Given the description of an element on the screen output the (x, y) to click on. 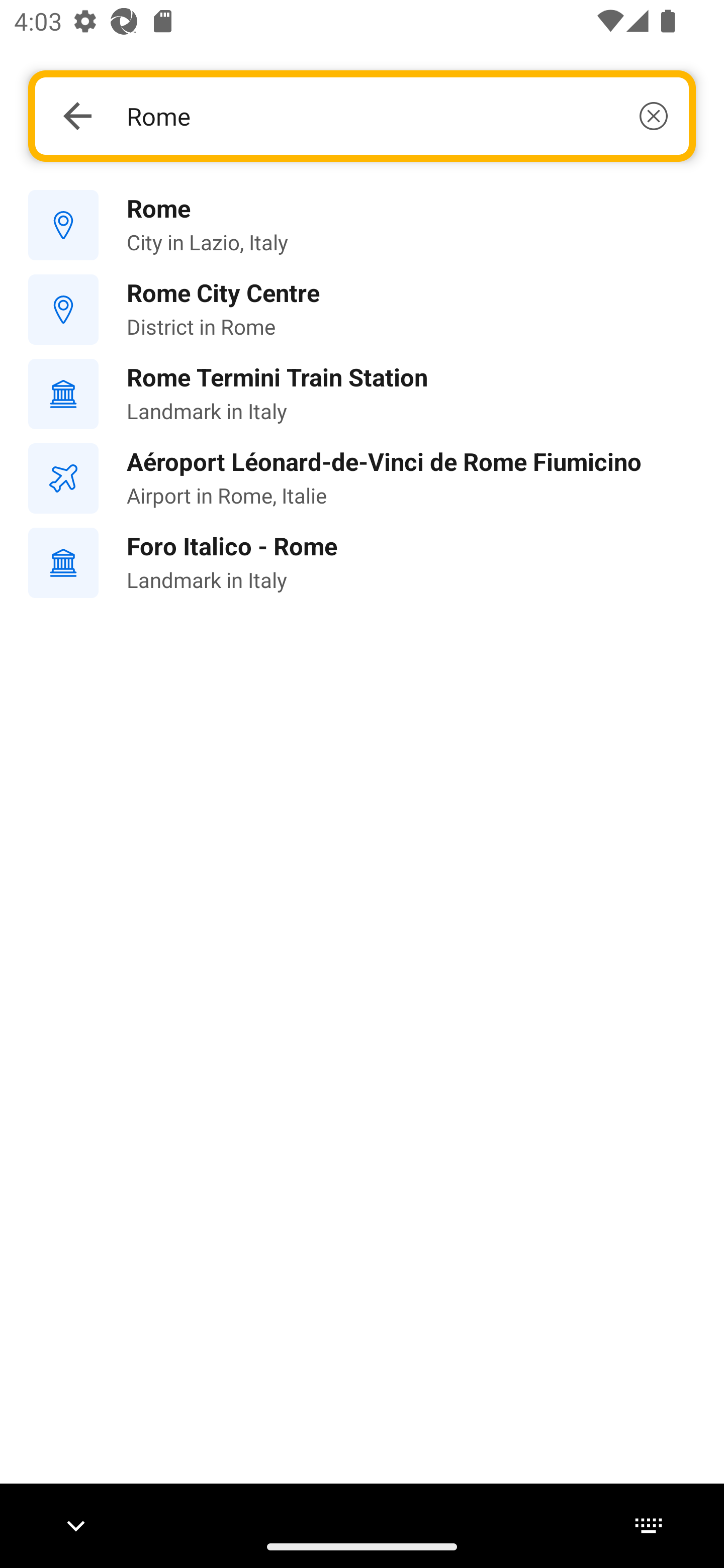
Rome (396, 115)
Rome City in Lazio, Italy (362, 225)
Rome City Centre District in Rome (362, 309)
Rome Termini Train Station Landmark in Italy (362, 393)
Foro Italico - Rome Landmark in Italy (362, 562)
